Given the description of an element on the screen output the (x, y) to click on. 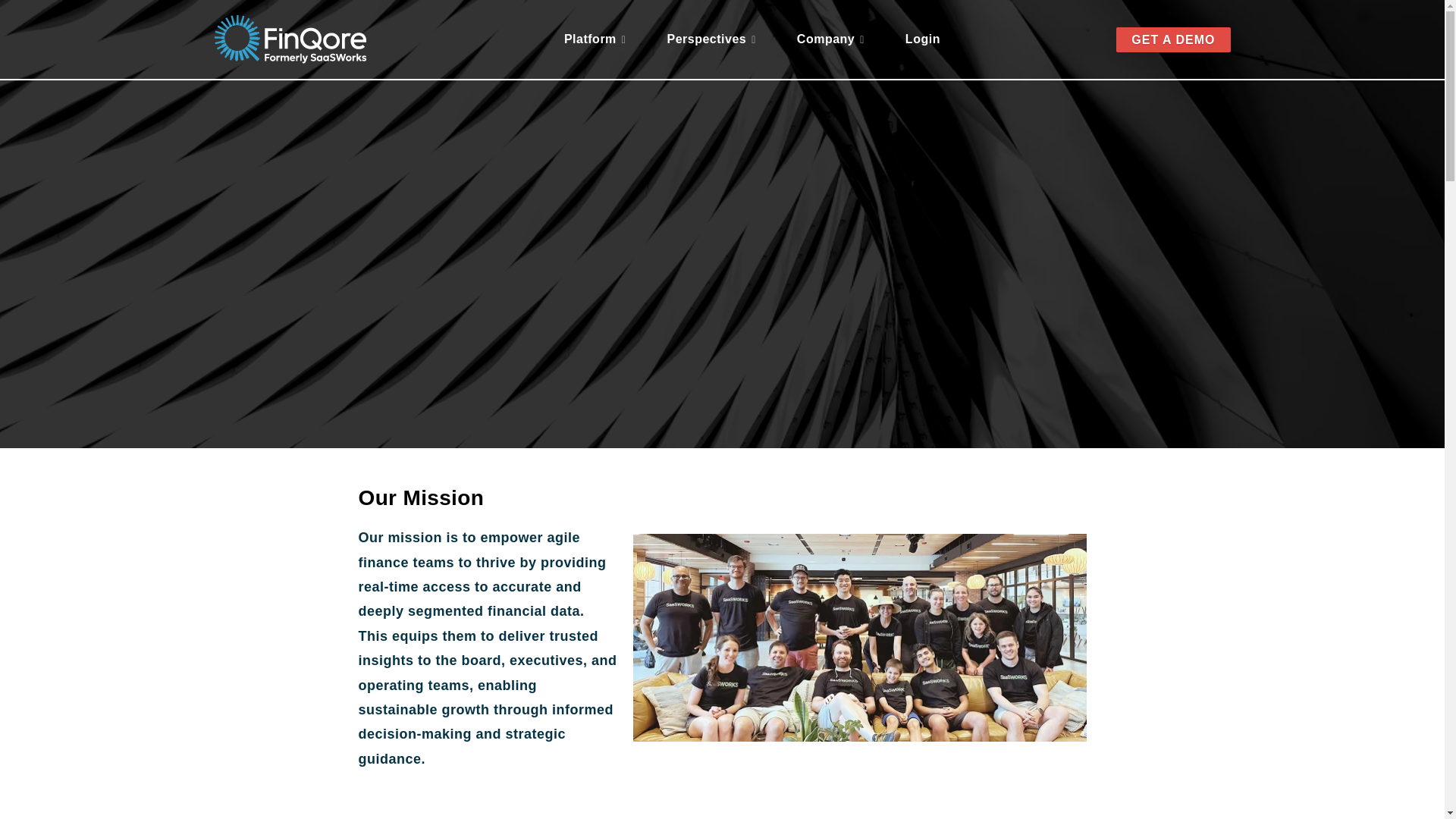
Platform (595, 39)
Company (830, 39)
Perspectives (710, 39)
Login (922, 39)
GET A DEMO (1173, 39)
Get a Demo (1173, 39)
